Given the description of an element on the screen output the (x, y) to click on. 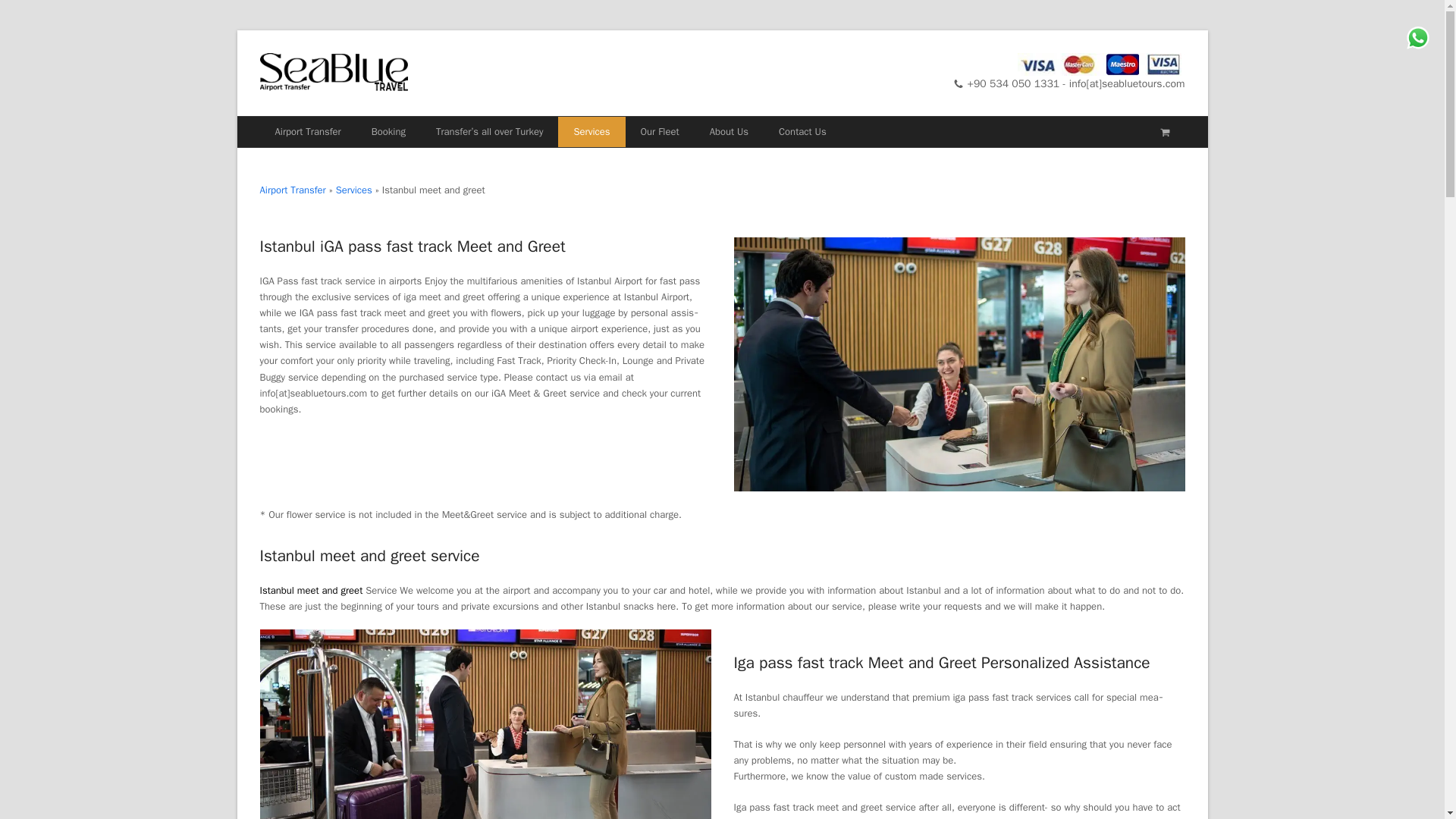
About Us (728, 132)
Our Fleet (659, 132)
visa master mastero electron (1101, 64)
iga-meet-greet-profesional-asistance-service (484, 724)
iga-meet-greet-profesional-asistance-services (959, 364)
